Given the description of an element on the screen output the (x, y) to click on. 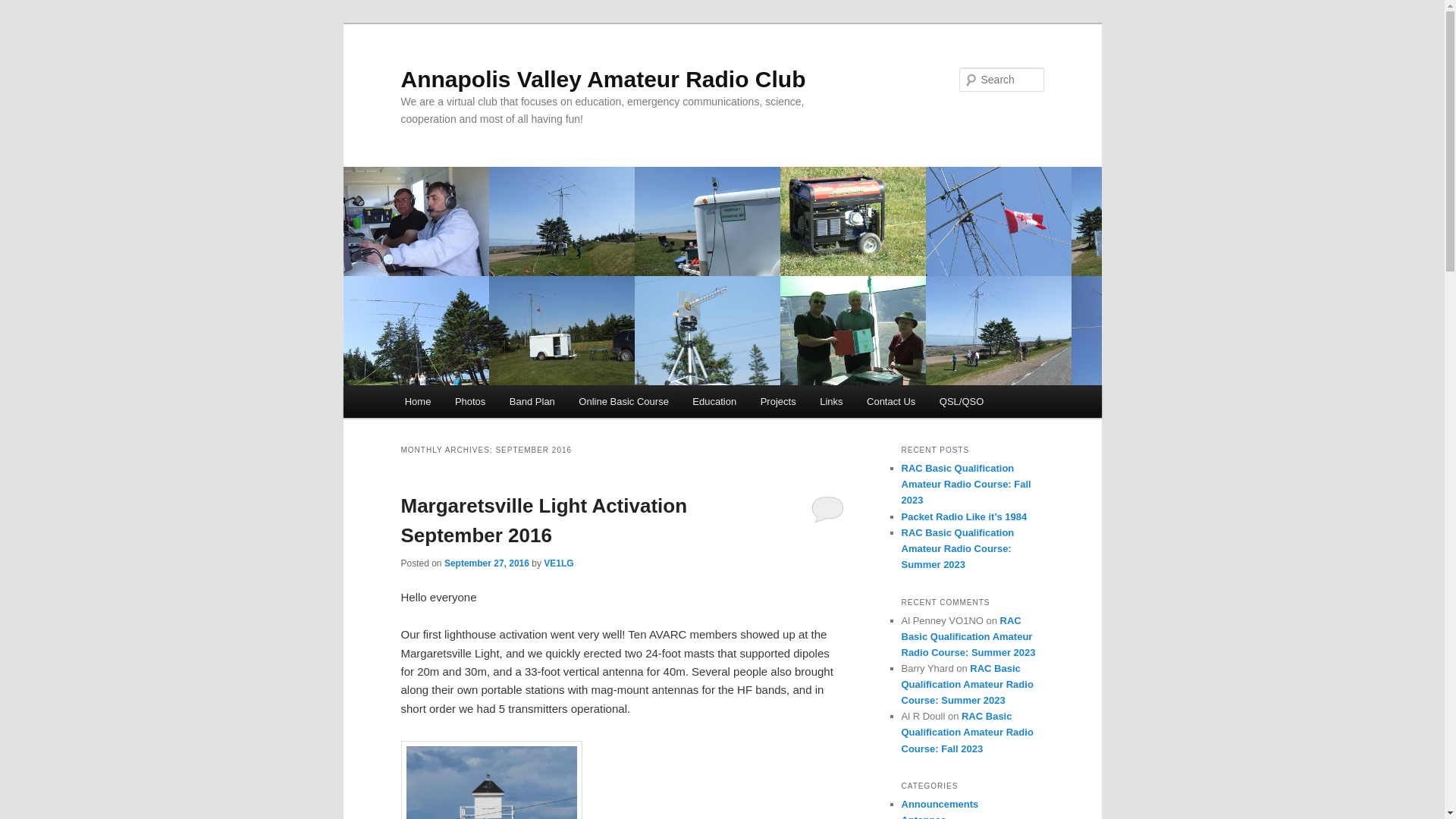
RAC Basic Qualification Amateur Radio Course: Fall 2023 Element type: text (966, 731)
RAC Basic Qualification Amateur Radio Course: Summer 2023 Element type: text (967, 635)
September 27, 2016 Element type: text (486, 563)
Home Element type: text (417, 401)
RAC Basic Qualification Amateur Radio Course: Fall 2023 Element type: text (965, 483)
Margaretsville Light Activation September 2016 Element type: text (543, 520)
RAC Basic Qualification Amateur Radio Course: Summer 2023 Element type: text (956, 548)
Announcements Element type: text (939, 803)
Annapolis Valley Amateur Radio Club Element type: text (602, 78)
RAC Basic Qualification Amateur Radio Course: Summer 2023 Element type: text (966, 684)
Contact Us Element type: text (890, 401)
Online Basic Course Element type: text (623, 401)
Search Element type: text (24, 8)
Photos Element type: text (469, 401)
Links Element type: text (830, 401)
Skip to primary content Element type: text (22, 22)
Education Element type: text (714, 401)
VE1LG Element type: text (558, 563)
QSL/QSO Element type: text (961, 401)
Projects Element type: text (777, 401)
Band Plan Element type: text (532, 401)
